Given the description of an element on the screen output the (x, y) to click on. 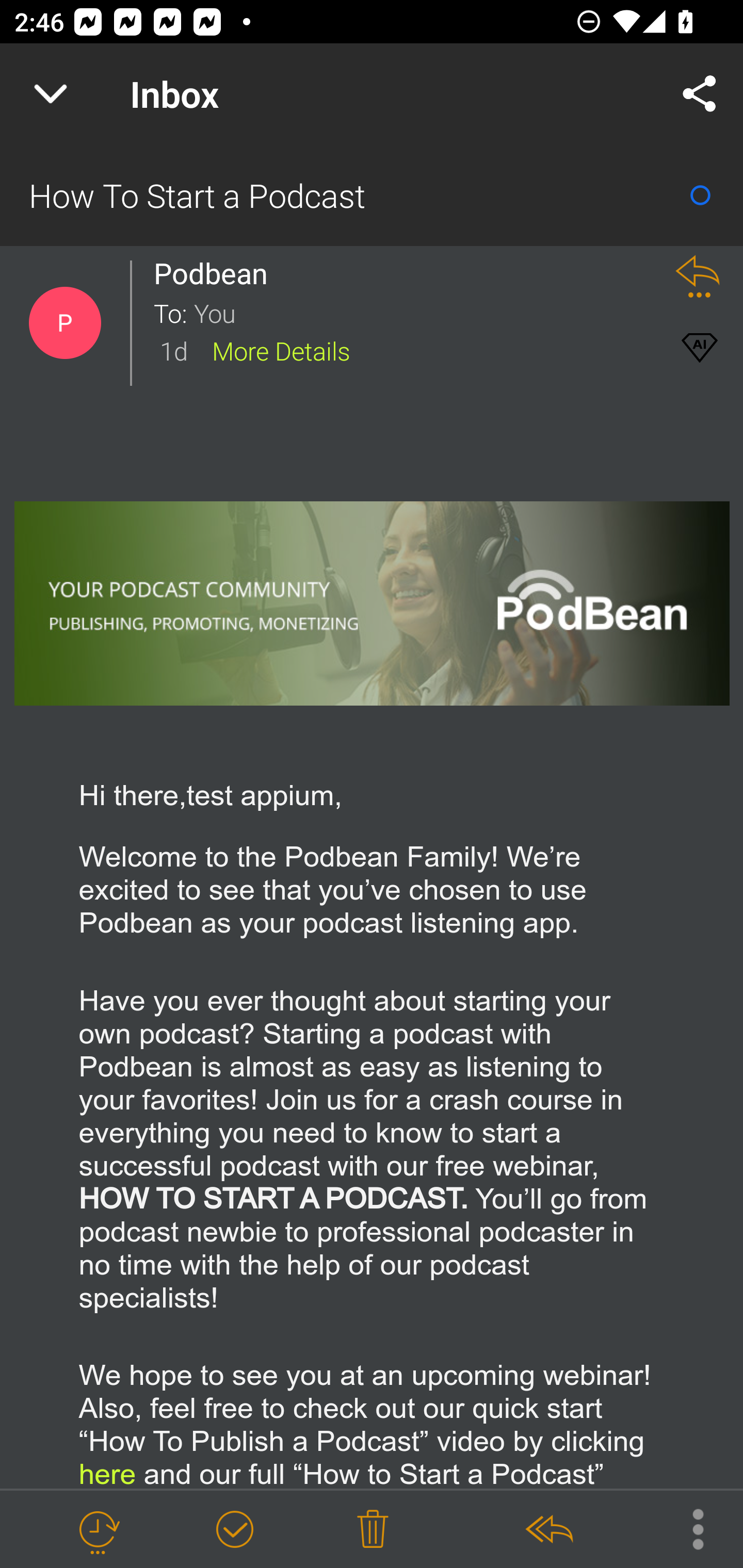
Navigate up (50, 93)
Share (699, 93)
Mark as Read (699, 194)
Podbean (215, 273)
Contact Details (64, 322)
More Details (280, 349)
header_v1 (372, 602)
here (107, 1472)
More Options (687, 1528)
here (371, 1489)
Snooze (97, 1529)
Mark as Done (234, 1529)
Delete (372, 1529)
Reply All (548, 1529)
